Given the description of an element on the screen output the (x, y) to click on. 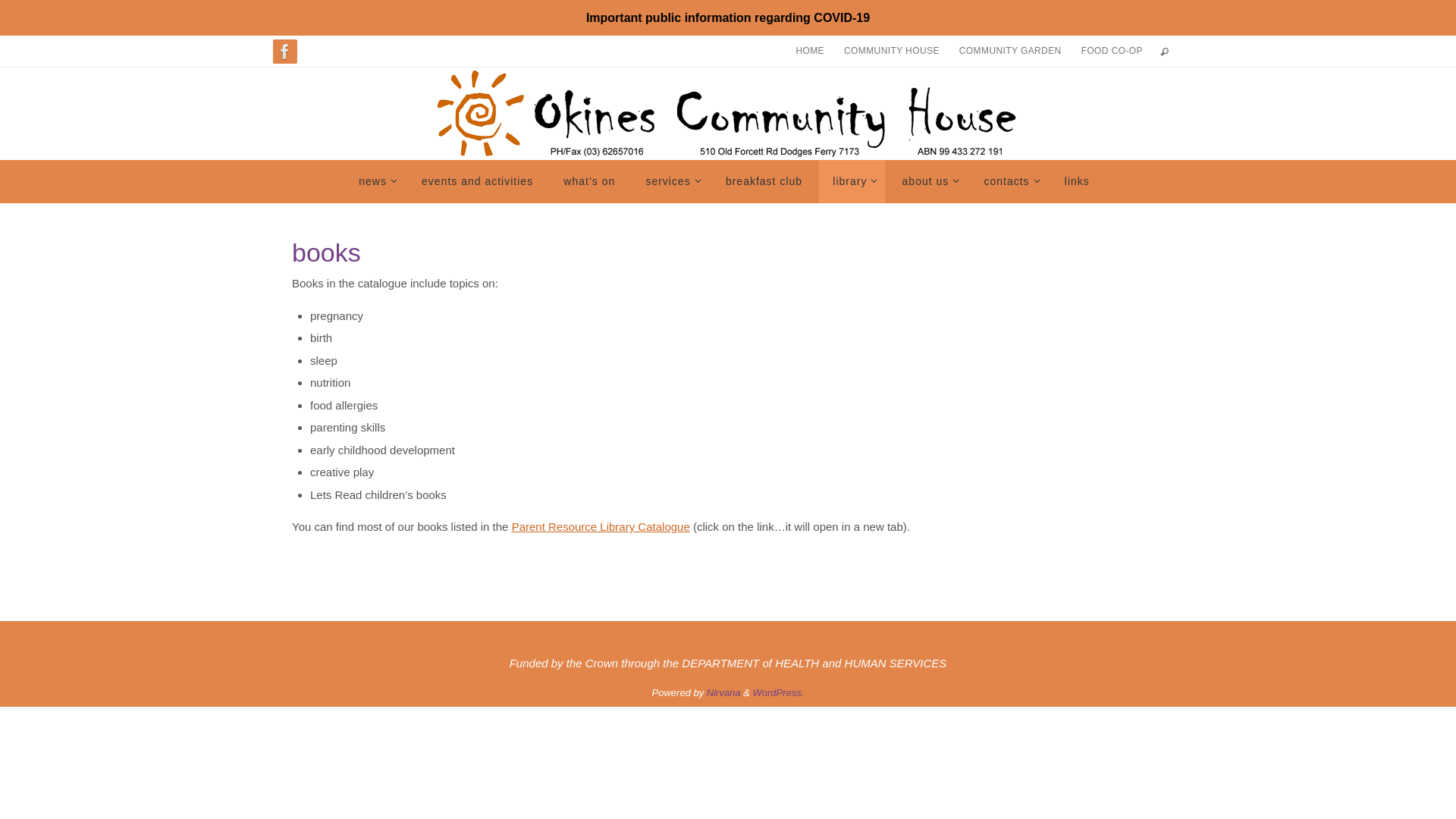
view facebook page Element type: hover (285, 51)
COMMUNITY HOUSE Element type: text (891, 50)
library Element type: text (851, 181)
Parent Resource Library Catalogue Element type: text (600, 526)
HOME Element type: text (809, 50)
Nirvana Element type: text (723, 692)
links Element type: text (1077, 181)
Okines Community House Element type: hover (727, 113)
breakfast club Element type: text (763, 181)
news Element type: text (374, 181)
FOOD CO-OP Element type: text (1111, 50)
contacts Element type: text (1008, 181)
about us Element type: text (927, 181)
services Element type: text (669, 181)
COMMUNITY GARDEN Element type: text (1010, 50)
WordPress. Element type: text (778, 692)
Important public information regarding COVID-19 Element type: text (727, 17)
events and activities Element type: text (476, 181)
